Given the description of an element on the screen output the (x, y) to click on. 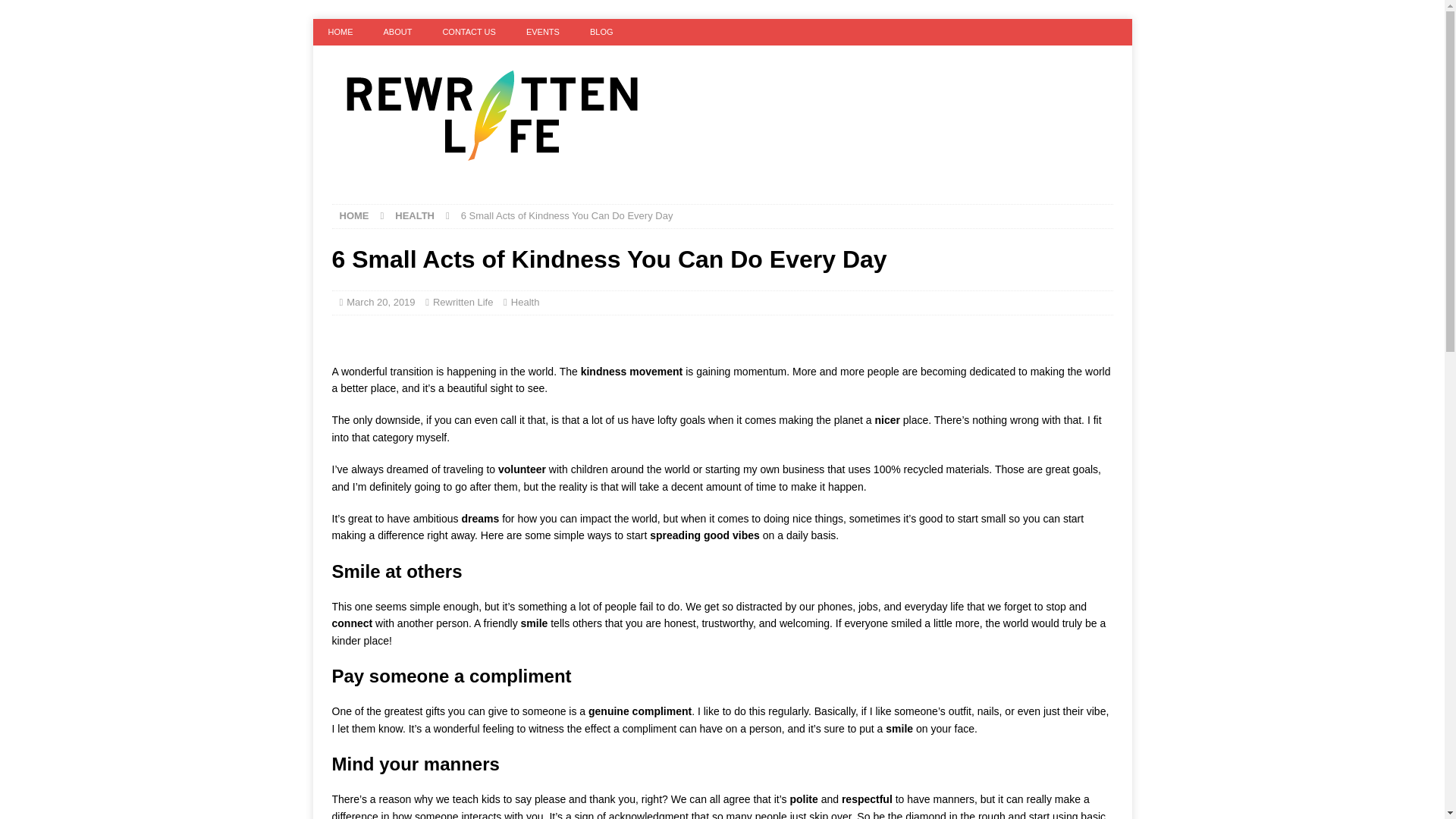
HOME (354, 215)
March 20, 2019 (380, 301)
Rewritten Life (462, 301)
ABOUT (398, 31)
HOME (340, 31)
BLOG (601, 31)
Health (525, 301)
CONTACT US (468, 31)
HEALTH (413, 215)
EVENTS (543, 31)
